Given the description of an element on the screen output the (x, y) to click on. 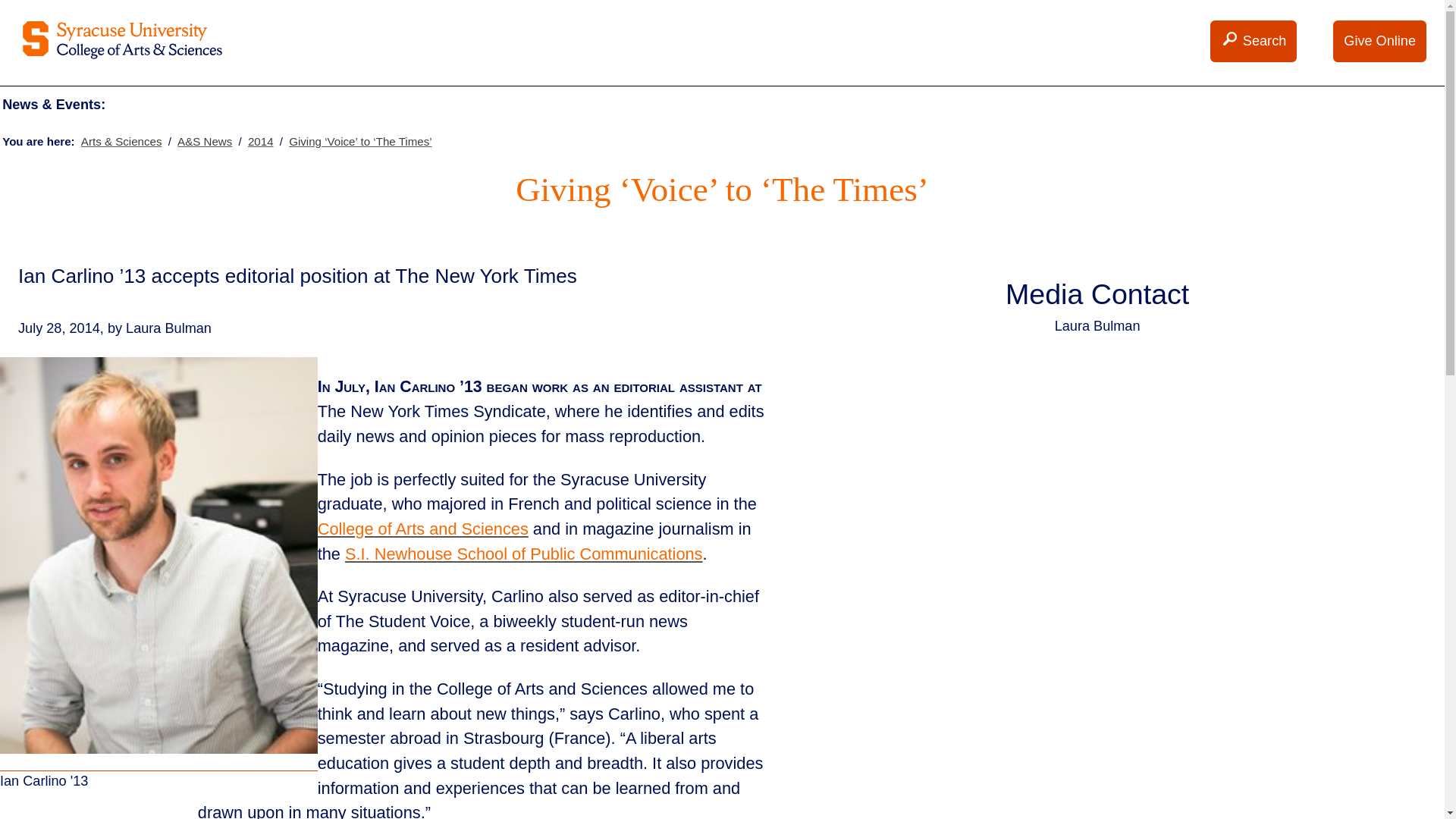
Search (1230, 38)
Give Online (1379, 41)
Search Search (1253, 41)
